Given the description of an element on the screen output the (x, y) to click on. 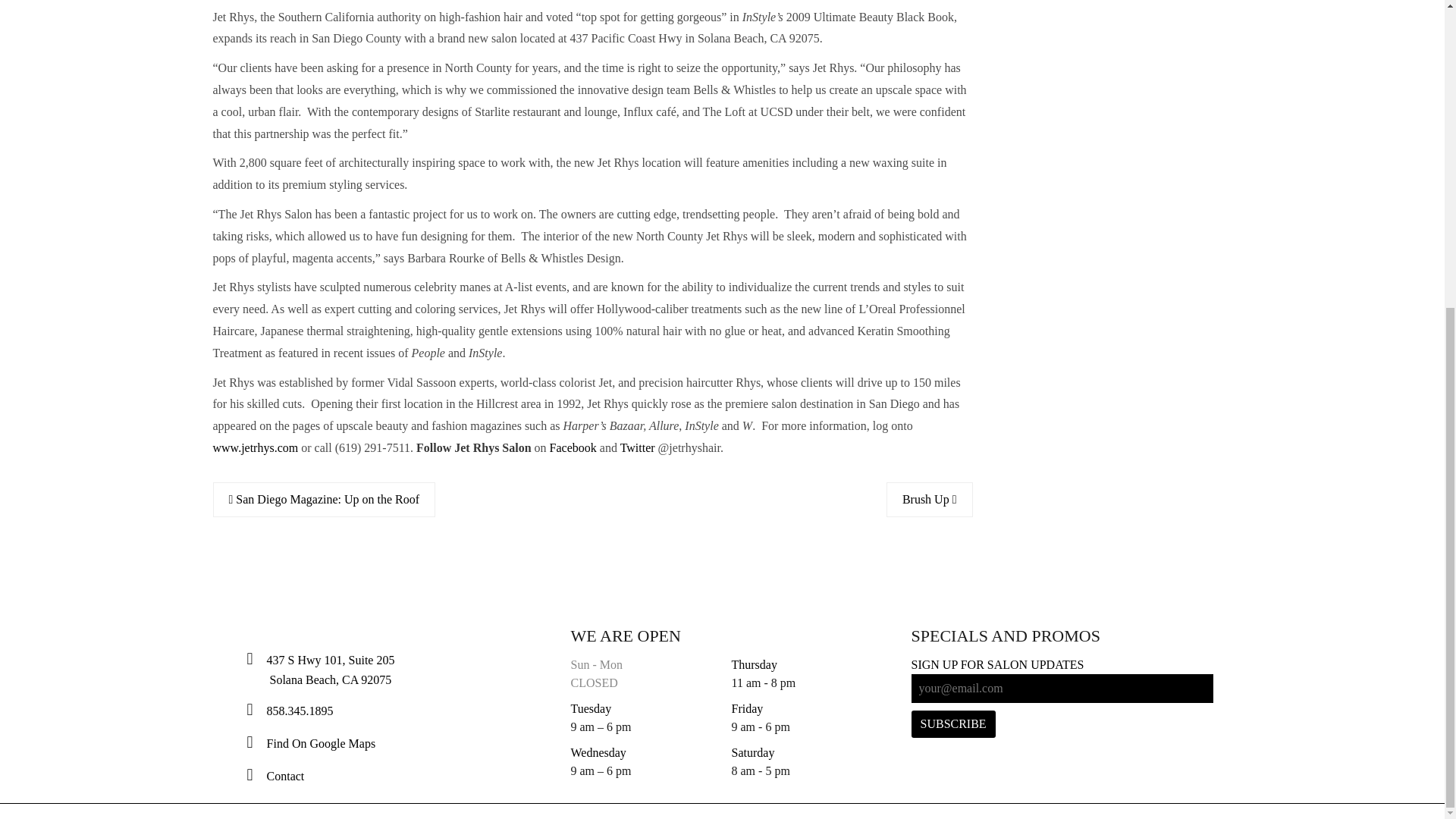
Facebook (573, 447)
Find On Google Maps (322, 743)
www.jetrhys.com (255, 447)
Twitter (637, 447)
San Diego Magazine: Up on the Roof (323, 499)
Brush Up (929, 499)
Contact (286, 775)
Subscribe (953, 723)
Subscribe (953, 723)
